Given the description of an element on the screen output the (x, y) to click on. 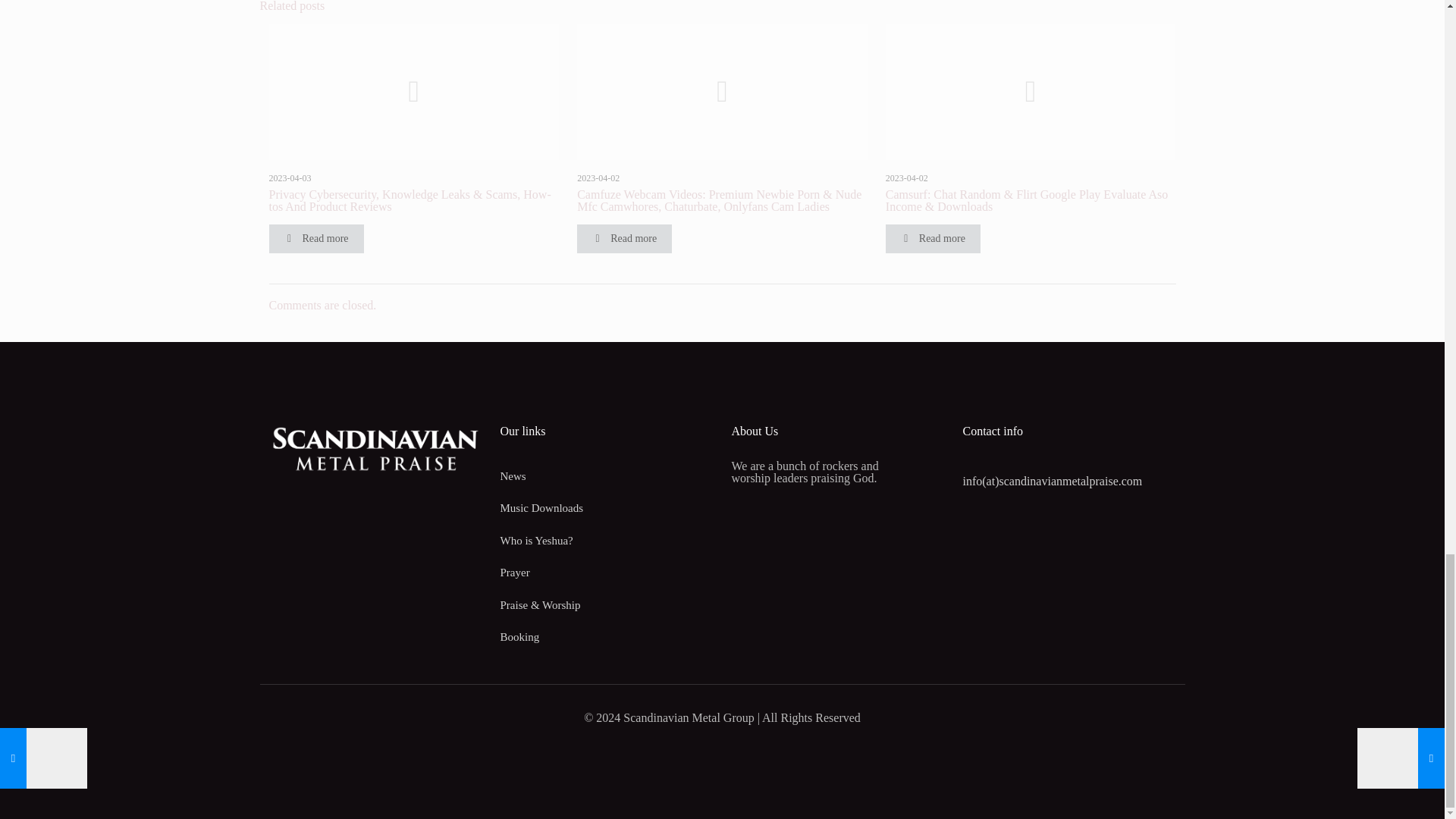
Music Downloads (606, 508)
Read more (932, 238)
Booking (606, 636)
Who is Yeshua? (606, 540)
Prayer (606, 572)
Read more (314, 238)
Read more (623, 238)
News (606, 476)
